Given the description of an element on the screen output the (x, y) to click on. 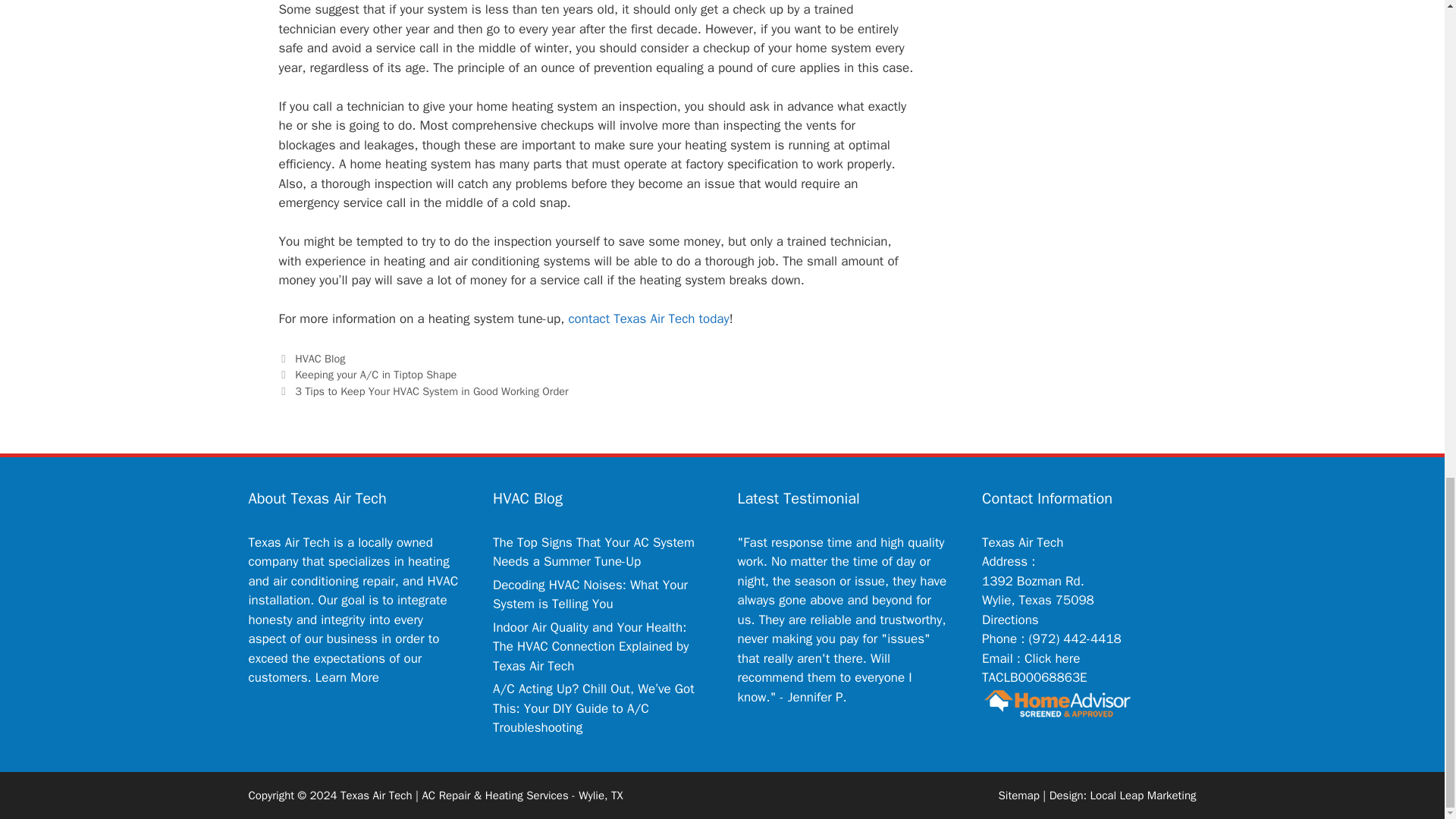
The Top Signs That Your AC System Needs a Summer Tune-Up (593, 552)
HVAC Blog (320, 358)
Next (424, 391)
contact Texas Air Tech today (648, 318)
Learn More (346, 677)
HVAC installation (353, 591)
3 Tips to Keep Your HVAC System in Good Working Order (431, 391)
Decoding HVAC Noises: What Your System is Telling You (590, 594)
Previous (368, 374)
heating (428, 561)
air conditioning repair (333, 580)
